Given the description of an element on the screen output the (x, y) to click on. 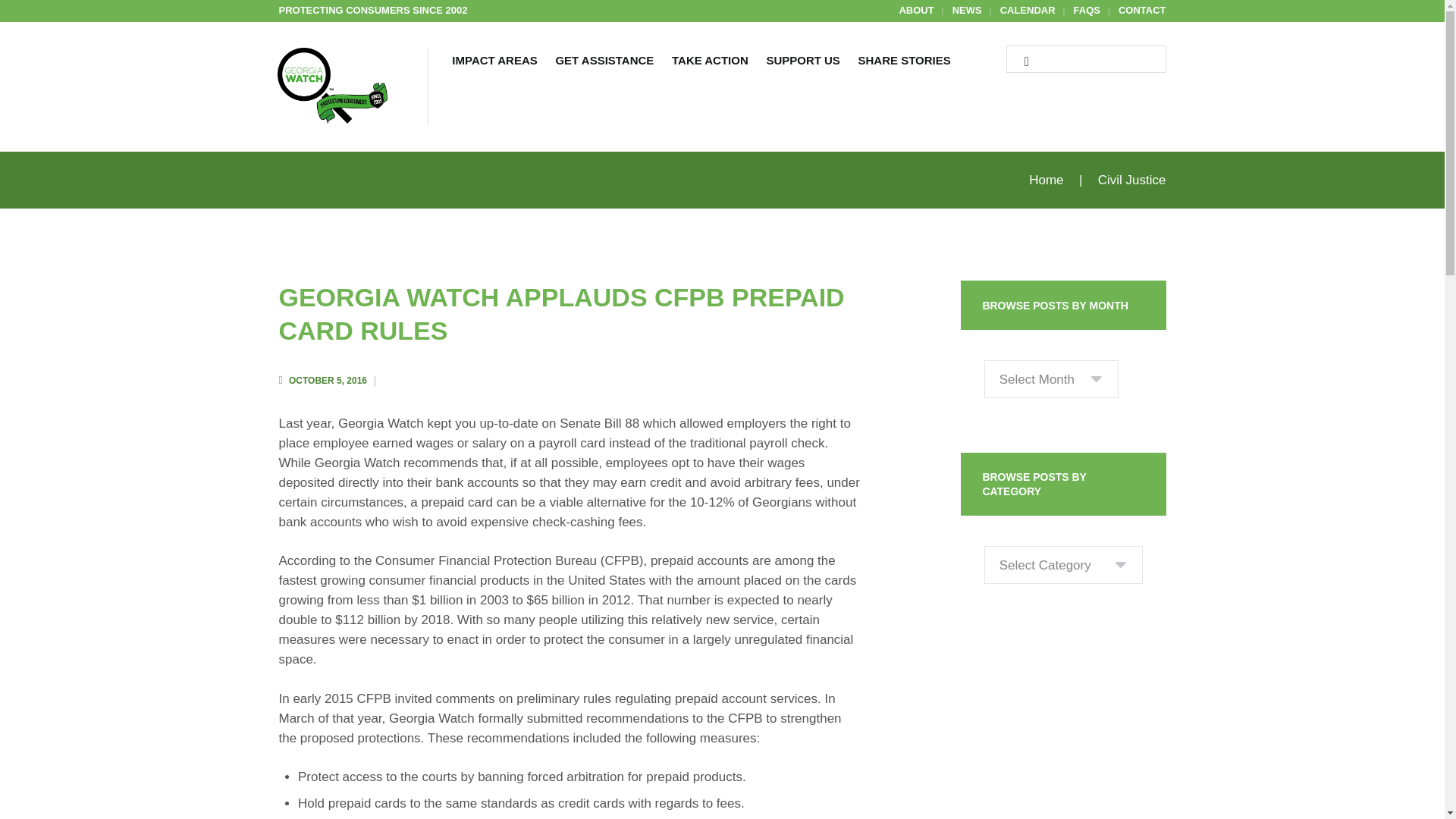
IMPACT AREAS (495, 62)
TAKE ACTION (709, 62)
ABOUT (915, 11)
SHARE STORIES (903, 62)
Start search (1020, 62)
SUPPORT US (802, 62)
CONTACT (1142, 11)
GET ASSISTANCE (605, 62)
NEWS (966, 11)
FAQS (1087, 11)
